Given the description of an element on the screen output the (x, y) to click on. 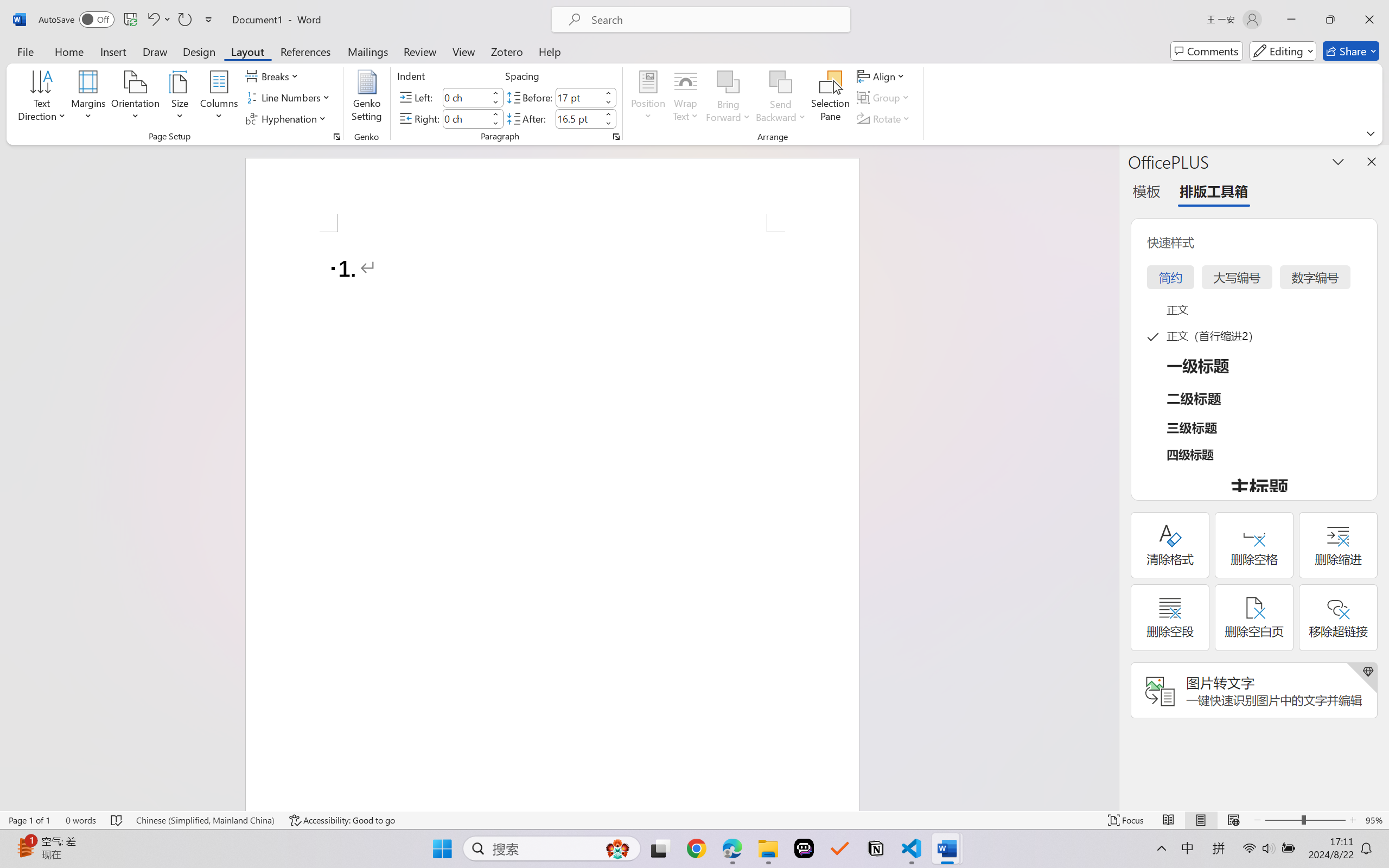
Bring Forward (728, 97)
Margins (88, 97)
Columns (219, 97)
Align (881, 75)
